Given the description of an element on the screen output the (x, y) to click on. 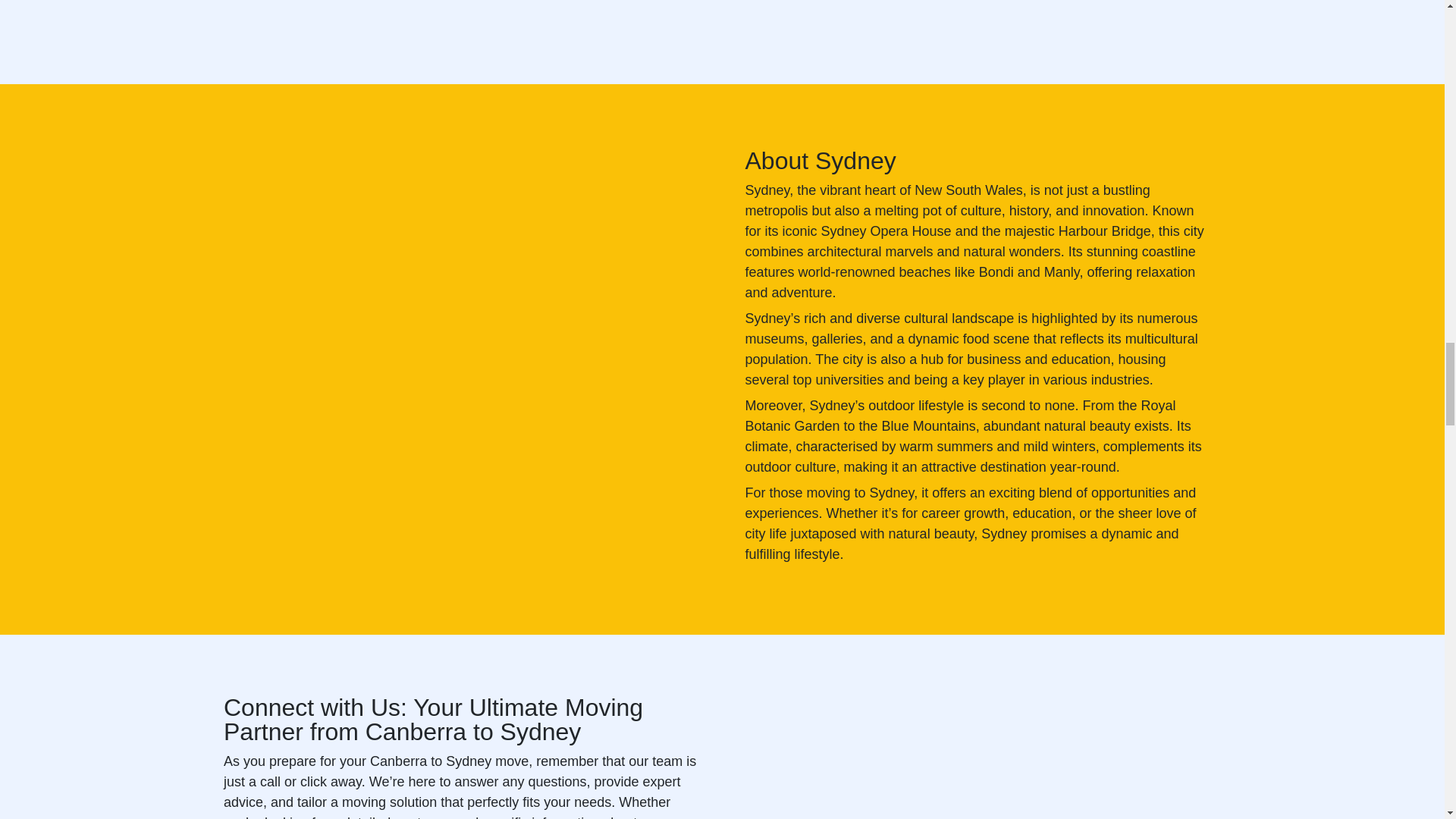
Sustainable Removalists (971, 12)
